Given the description of an element on the screen output the (x, y) to click on. 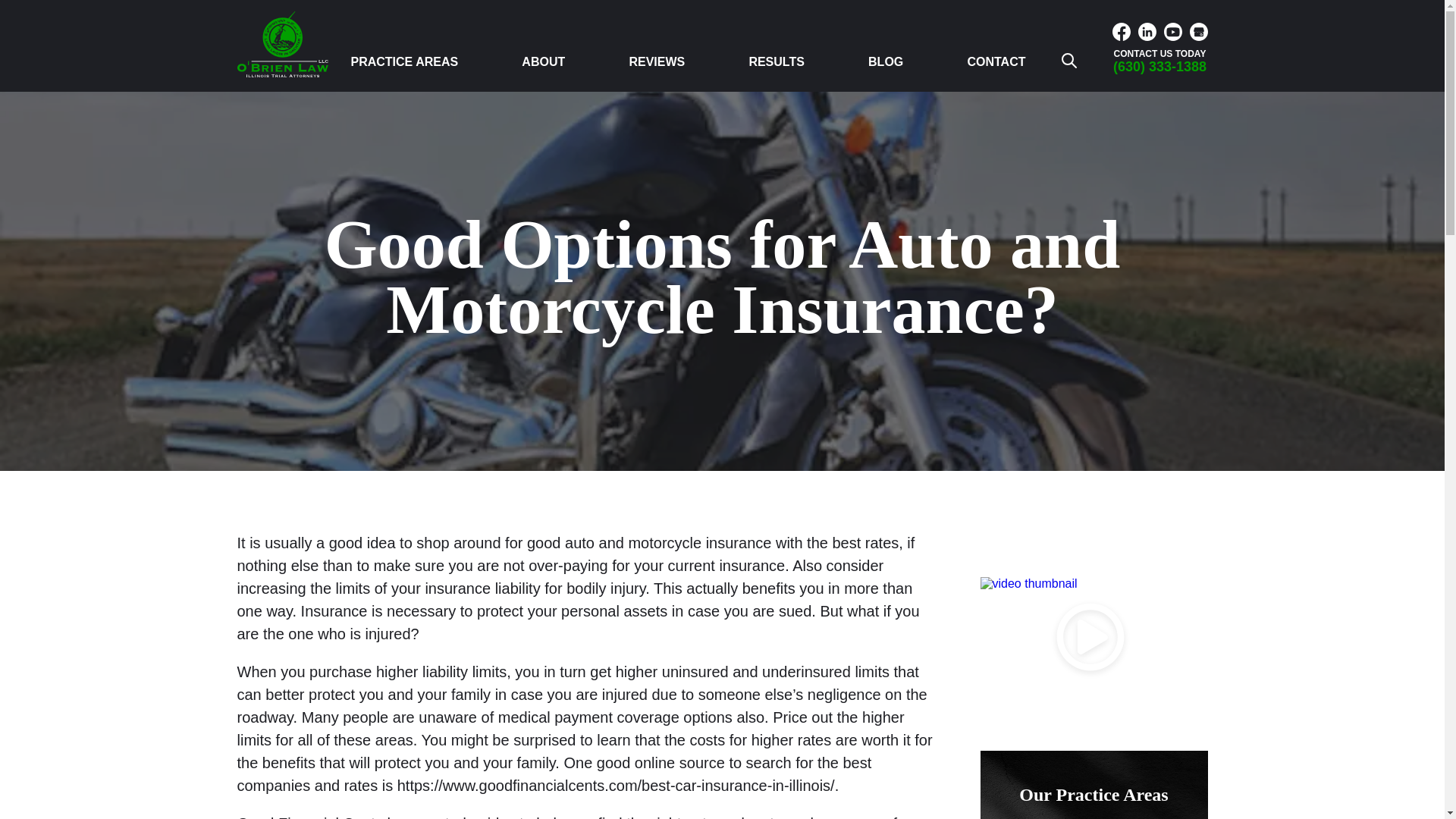
PRACTICE AREAS (404, 61)
